Given the description of an element on the screen output the (x, y) to click on. 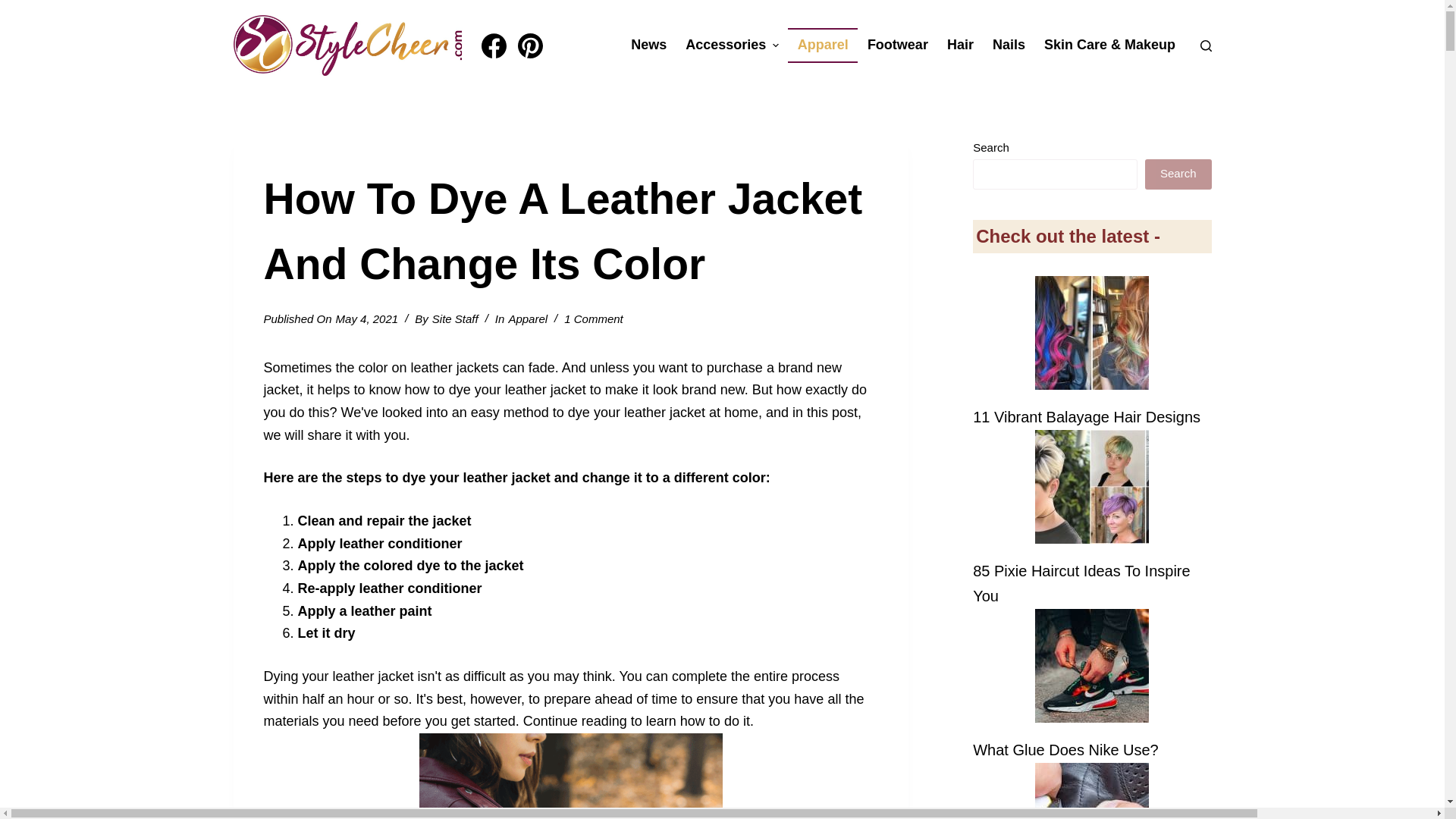
News (649, 45)
Apparel (527, 318)
Nails (1007, 45)
Site Staff (455, 318)
Hair (959, 45)
Posts by Site Staff (455, 318)
1 Comment (593, 318)
Footwear (897, 45)
Apparel (822, 45)
How To Dye A Leather Jacket And Change Its Color (570, 231)
